Given the description of an element on the screen output the (x, y) to click on. 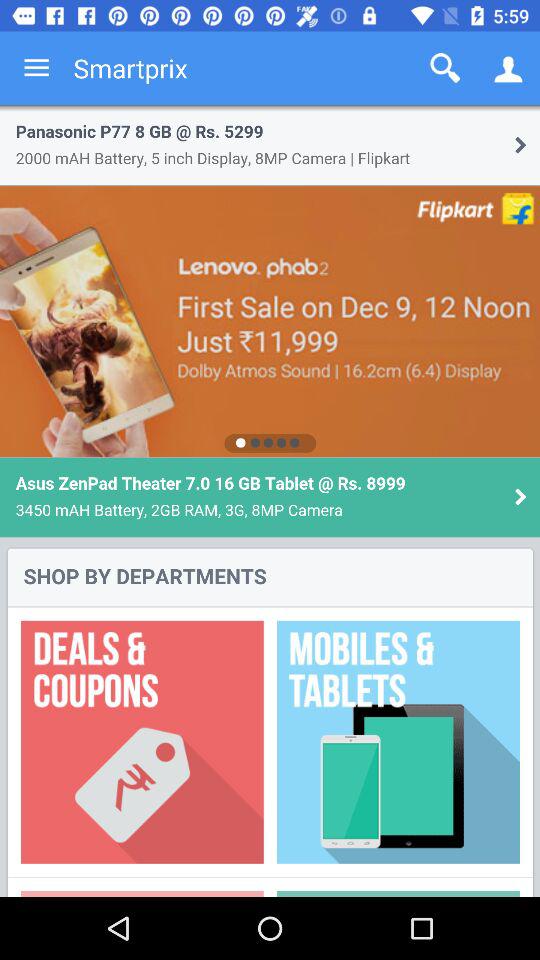
shows the enire imagw option (270, 501)
